Given the description of an element on the screen output the (x, y) to click on. 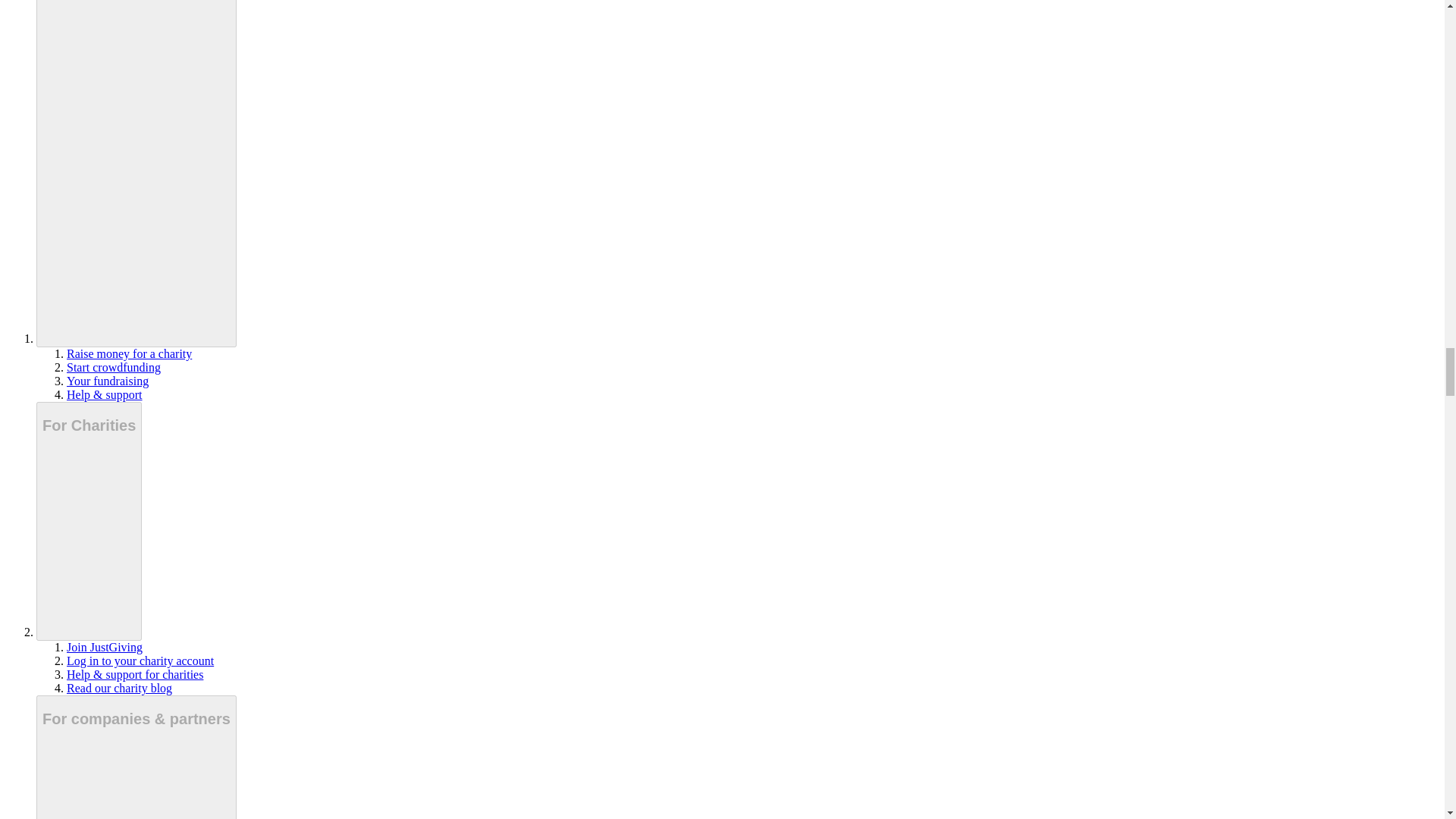
Read our charity blog (118, 687)
Start crowdfunding (113, 367)
Your fundraising (107, 380)
Join JustGiving (104, 646)
Raise money for a charity (129, 353)
Log in to your charity account (140, 660)
